Given the description of an element on the screen output the (x, y) to click on. 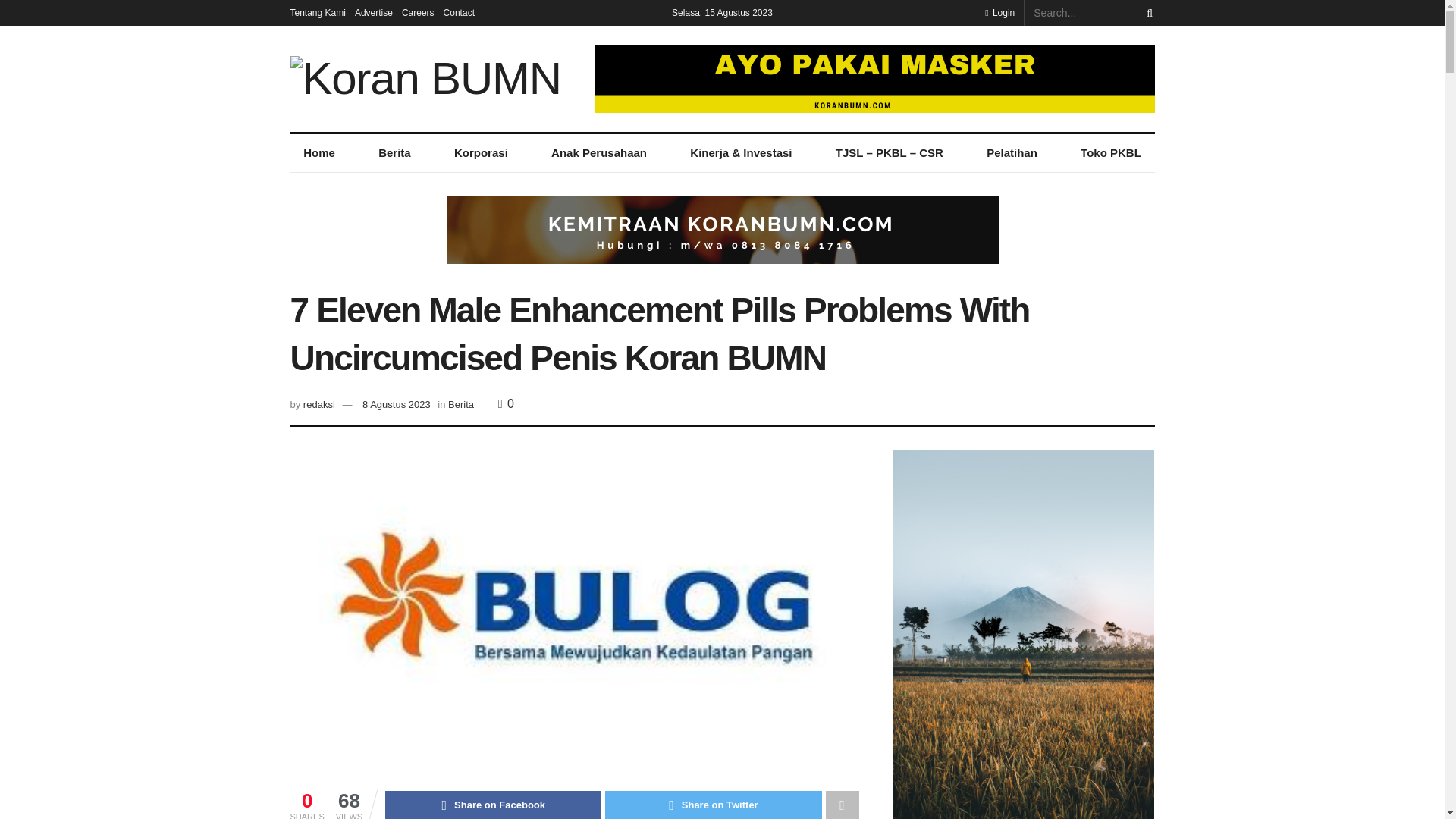
Careers (417, 12)
Toko PKBL (1110, 152)
Berita (394, 152)
Contact (459, 12)
Pelatihan (1010, 152)
Advertise (374, 12)
Berita (461, 404)
Login (999, 12)
Korporasi (481, 152)
redaksi (318, 404)
Anak Perusahaan (598, 152)
Home (318, 152)
8 Agustus 2023 (396, 404)
Share on Facebook (493, 805)
Tentang Kami (317, 12)
